Given the description of an element on the screen output the (x, y) to click on. 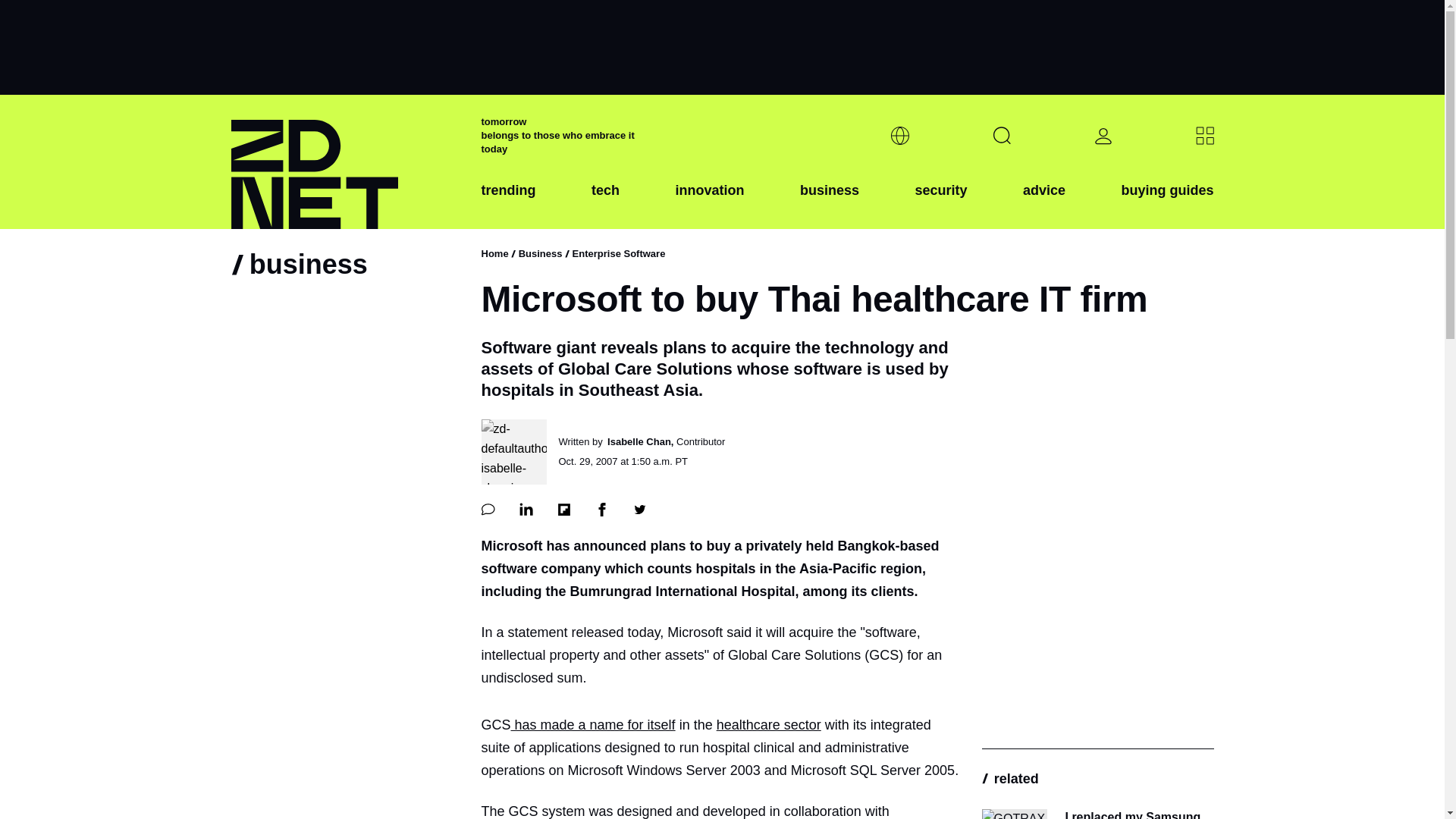
ZDNet Asia Smart50: Bumrungrad International (593, 724)
ZDNET (346, 162)
trending (507, 202)
